Given the description of an element on the screen output the (x, y) to click on. 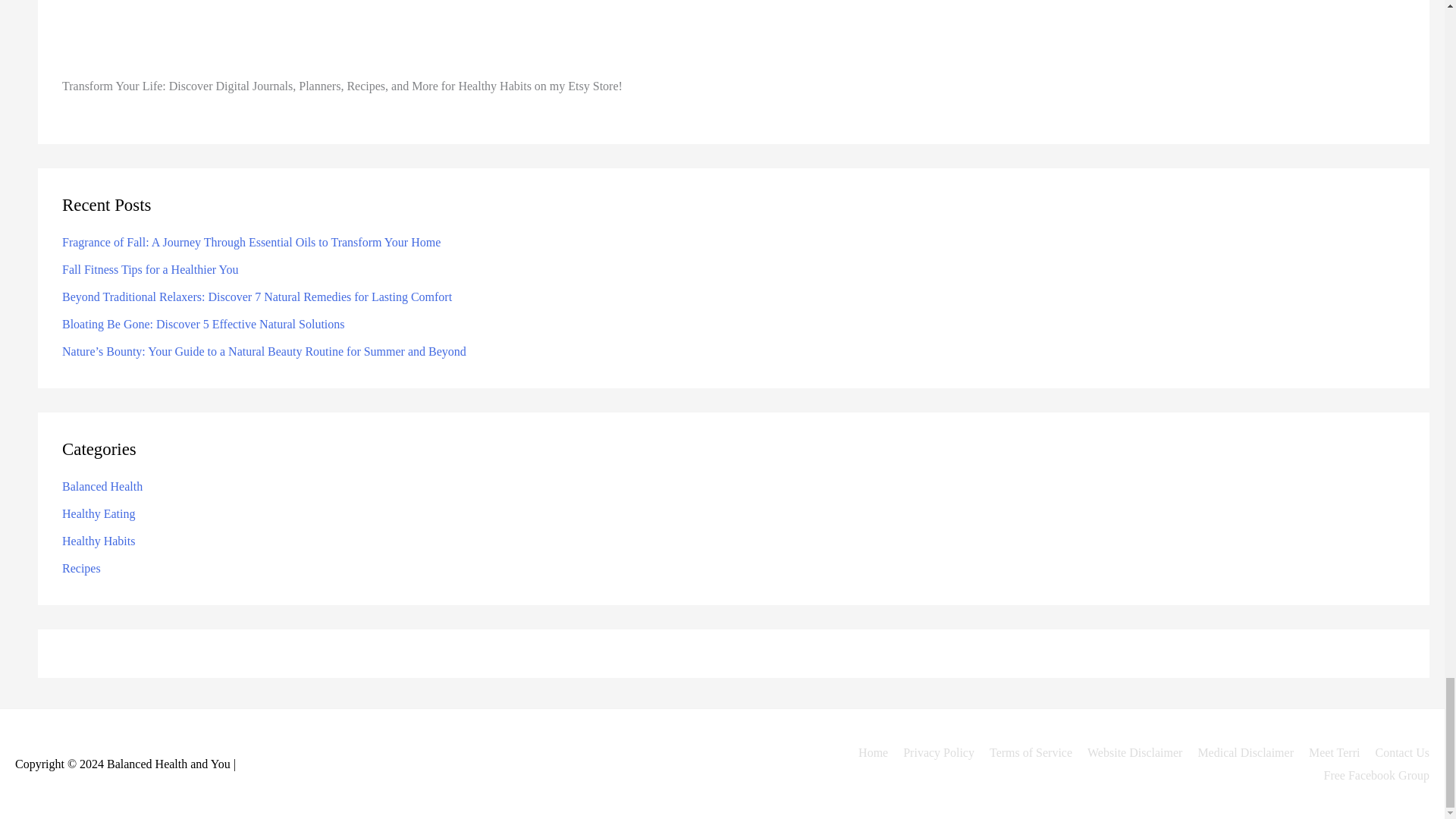
Healthy Habits (98, 540)
Recipes (81, 567)
Healthy Eating (98, 513)
Balanced Health and You Store (733, 37)
Balanced Health (102, 486)
Fall Fitness Tips for a Healthier You (150, 269)
Home (866, 752)
Privacy Policy (932, 752)
